Given the description of an element on the screen output the (x, y) to click on. 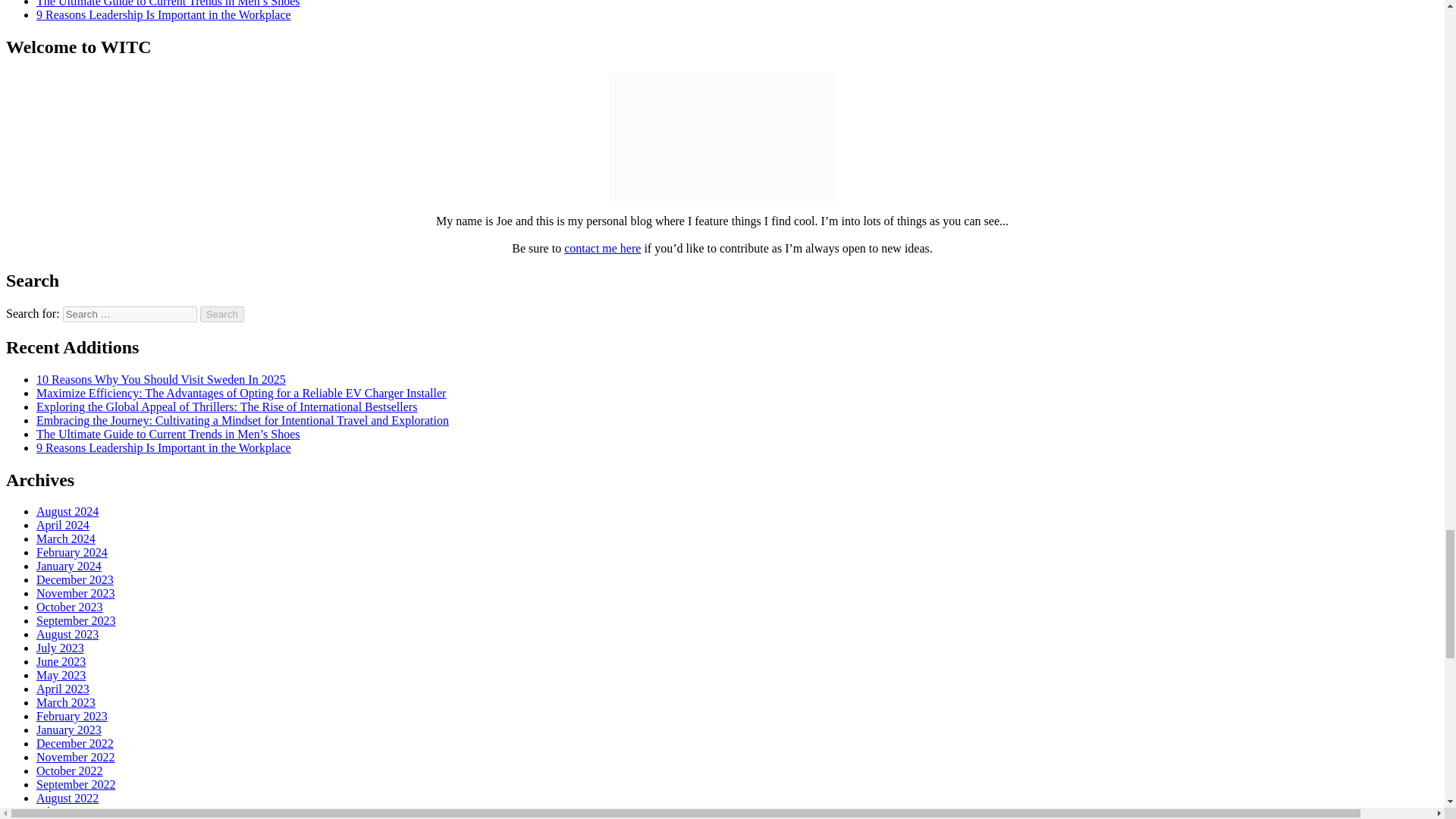
contact me here (602, 247)
9 Reasons Leadership Is Important in the Workplace (163, 14)
Search (222, 314)
Search (222, 314)
Search (222, 314)
